Given the description of an element on the screen output the (x, y) to click on. 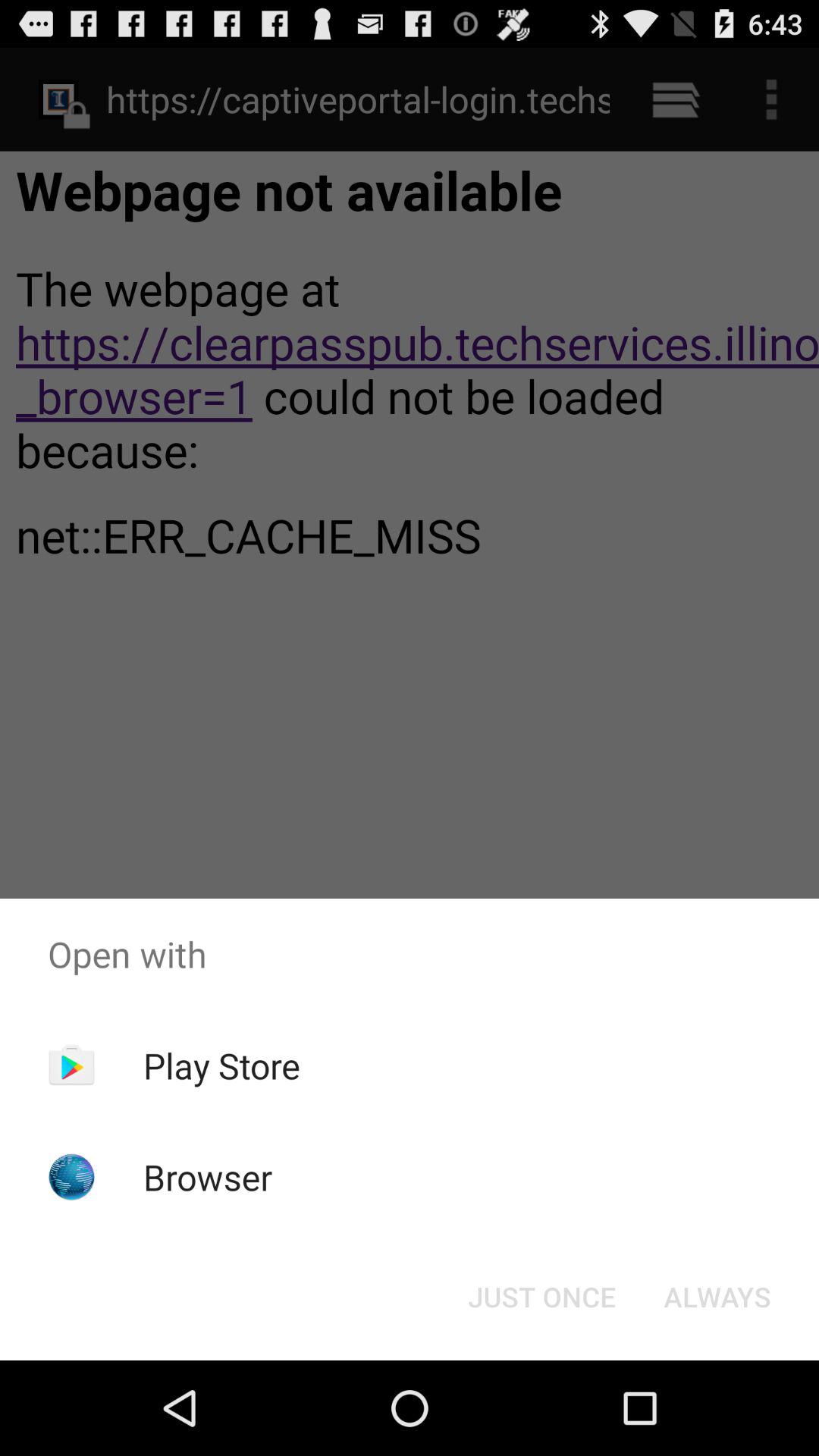
launch button to the left of the always item (541, 1296)
